Given the description of an element on the screen output the (x, y) to click on. 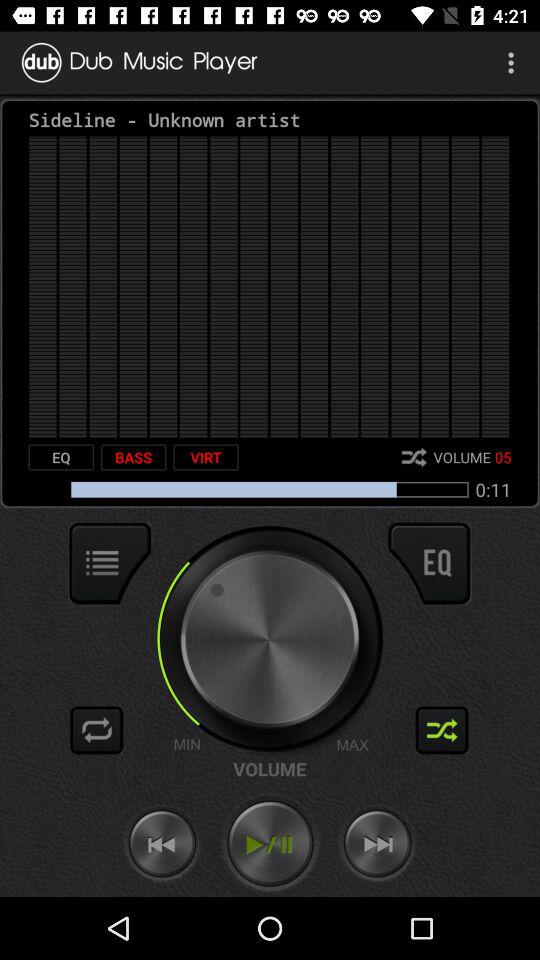
show the menu options (110, 563)
